Given the description of an element on the screen output the (x, y) to click on. 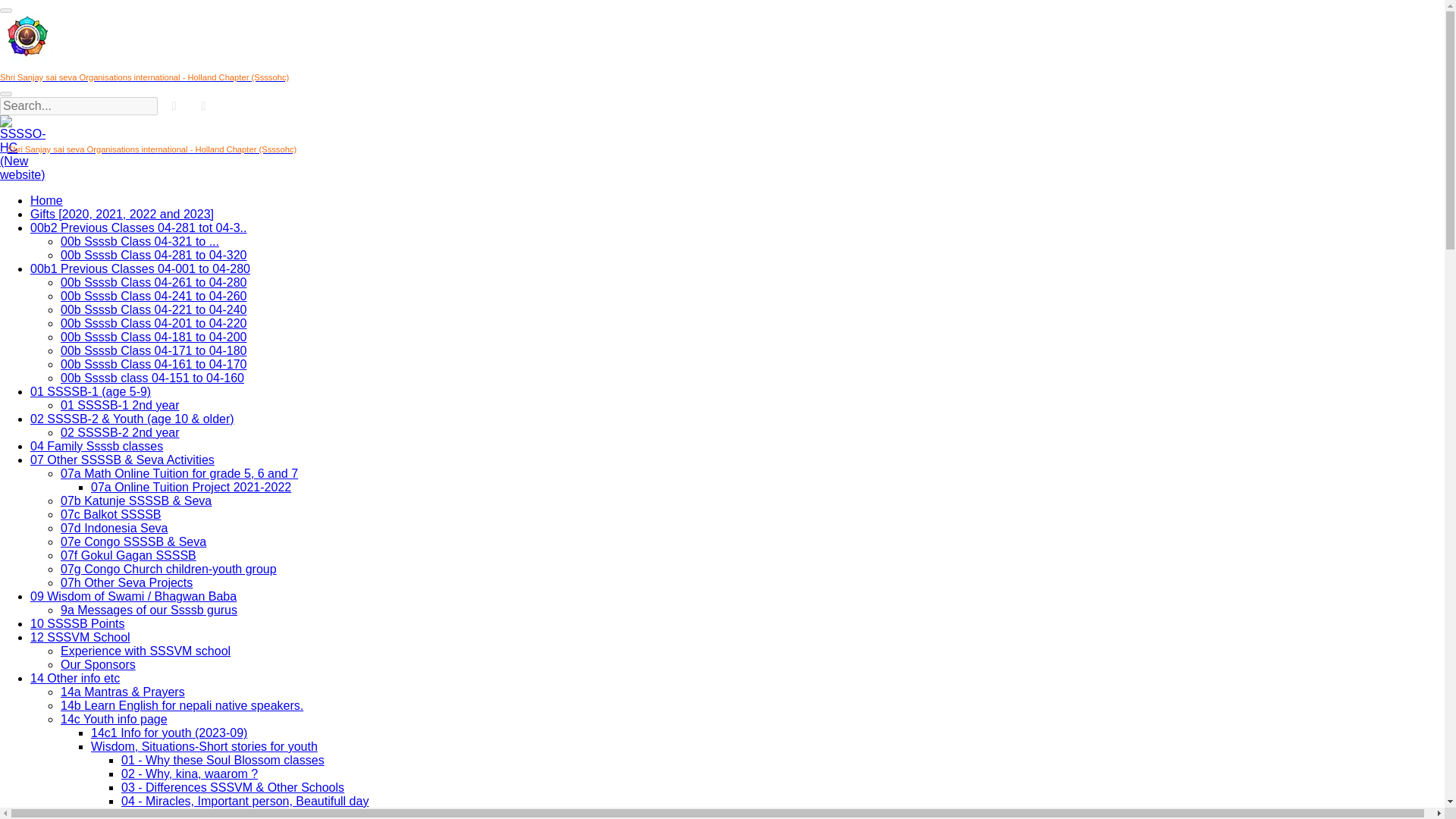
Home (46, 200)
00b Ssssb Class 04-241 to 04-260 (153, 295)
00b Ssssb class 04-151 to 04-160 (152, 377)
04 Family Ssssb classes (96, 445)
10 SSSSB Points (77, 623)
07a Online Tuition Project 2021-2022 (190, 486)
07g Congo Church children-youth group (168, 568)
07f Gokul Gagan SSSSB (128, 554)
00b1 Previous Classes 04-001 to 04-280 (140, 268)
00b Ssssb Class 04-281 to 04-320 (153, 254)
00b Ssssb Class 04-181 to 04-200 (153, 336)
00b Ssssb Class 04-261 to 04-280 (153, 282)
00b Ssssb Class 04-161 to 04-170 (153, 364)
07c Balkot SSSSB (111, 513)
00b Ssssb Class 04-201 to 04-220 (153, 323)
